Given the description of an element on the screen output the (x, y) to click on. 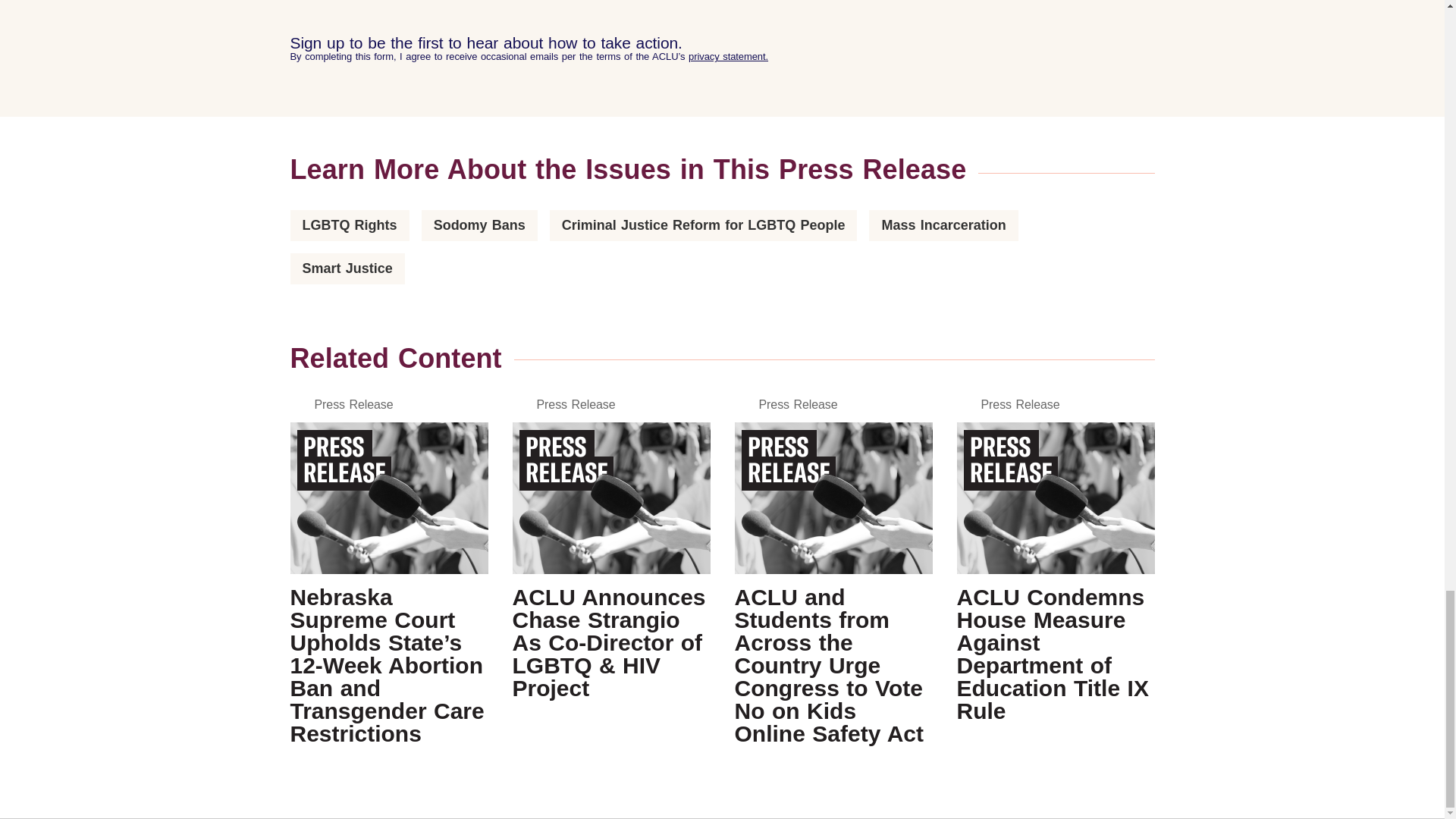
Criminal Justice Reform for LGBTQ People (703, 224)
Mass Incarceration (943, 224)
privacy statement. (728, 56)
Smart Justice (346, 268)
Sodomy Bans (479, 224)
LGBTQ Rights (349, 224)
